Given the description of an element on the screen output the (x, y) to click on. 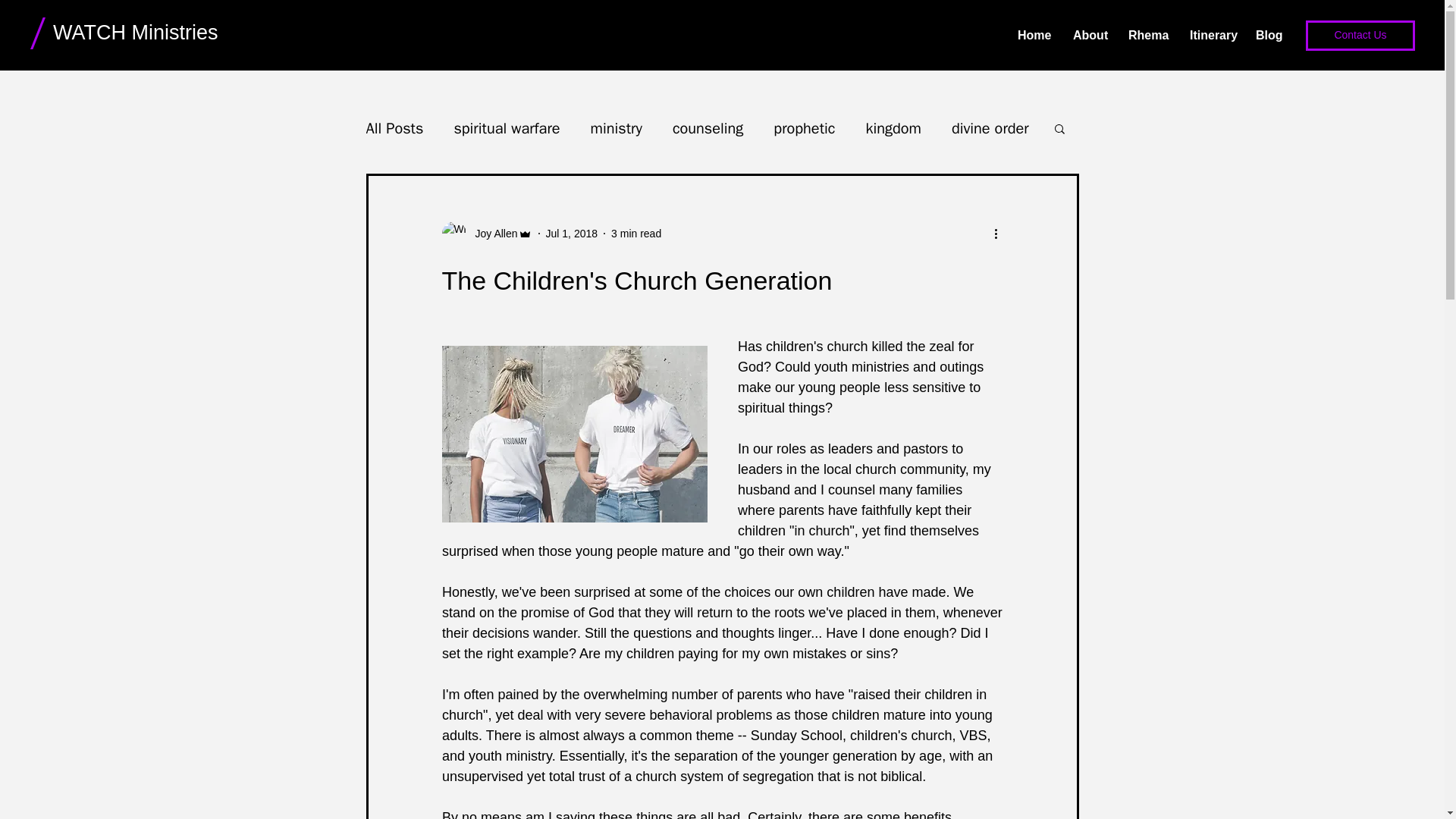
divine order (990, 127)
Joy Allen (490, 233)
ministry (616, 127)
WATCH Ministries (135, 32)
Contact Us (1360, 35)
Itinerary (1210, 35)
Rhema (1146, 35)
Home (1033, 35)
3 min read (636, 233)
counseling (707, 127)
prophetic (803, 127)
About (1088, 35)
Blog (1268, 35)
Jul 1, 2018 (572, 233)
spiritual warfare (505, 127)
